Given the description of an element on the screen output the (x, y) to click on. 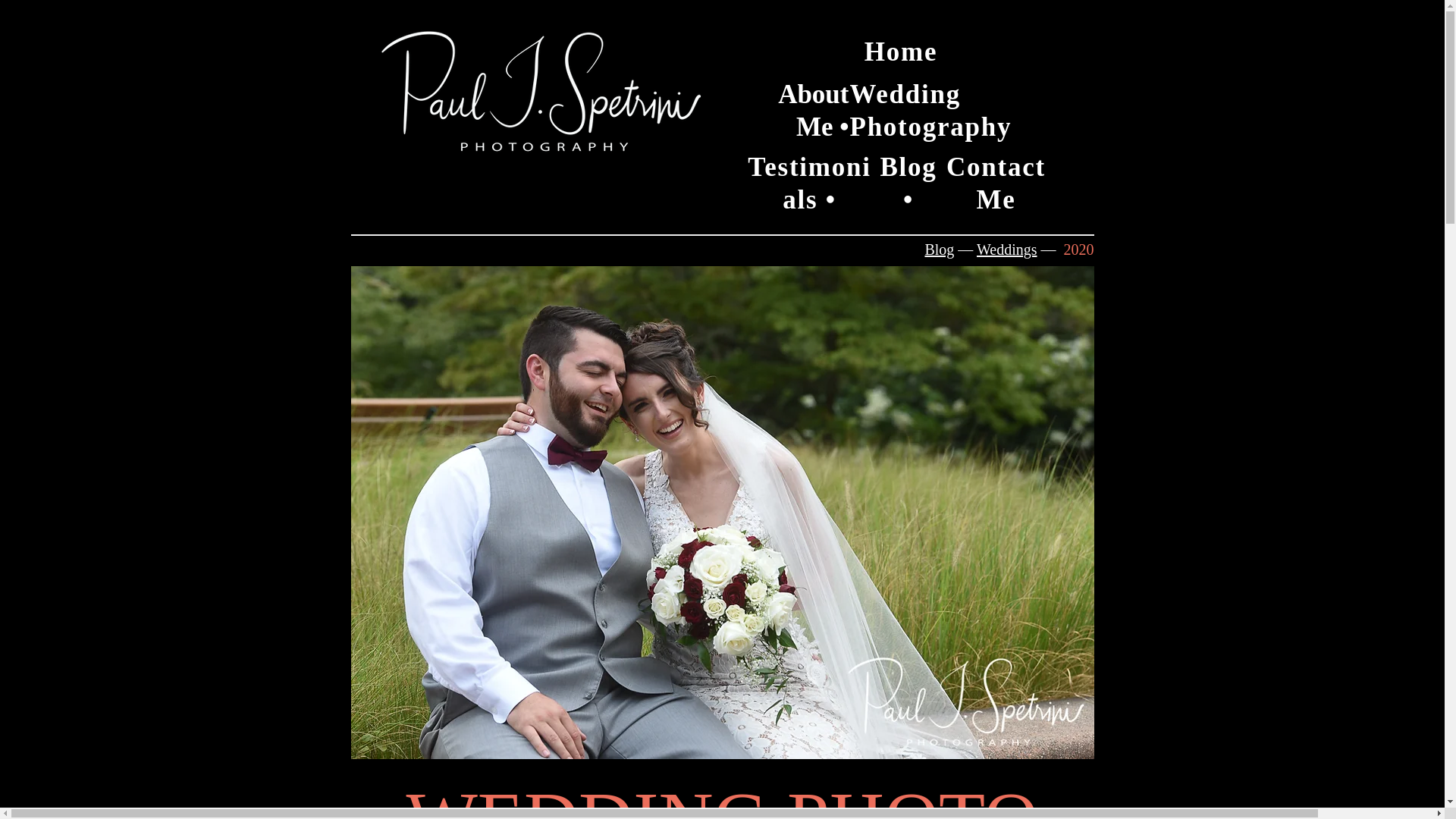
Contact Me (995, 182)
Wedding Photography (929, 109)
Weddings (1006, 248)
Home (900, 51)
Blog (938, 248)
